Given the description of an element on the screen output the (x, y) to click on. 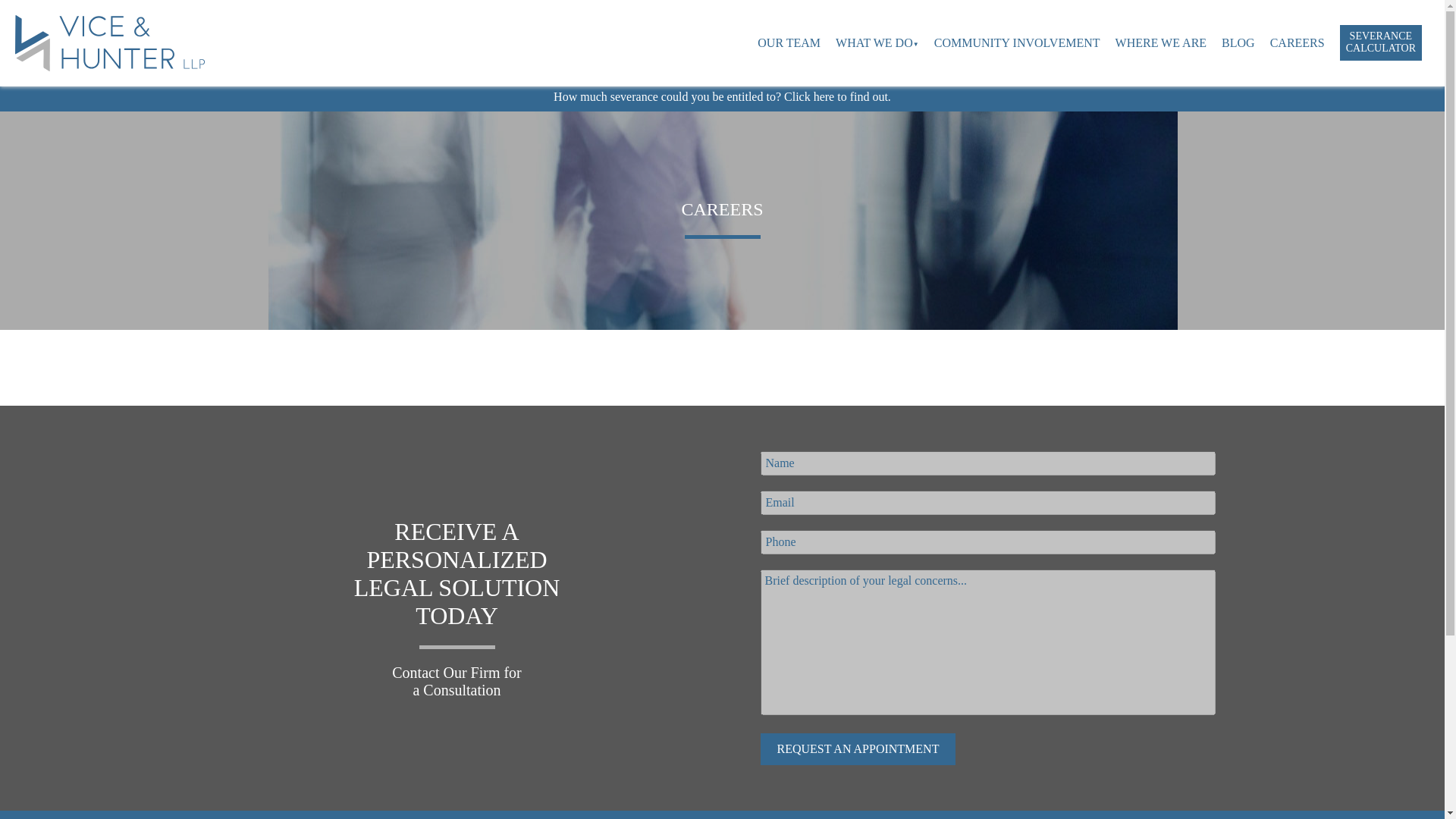
REQUEST AN APPOINTMENT (857, 748)
REQUEST AN APPOINTMENT (857, 748)
COMMUNITY INVOLVEMENT (1017, 42)
OUR TEAM (789, 42)
BLOG (1238, 42)
WHERE WE ARE (1161, 42)
CAREERS (1380, 42)
